Given the description of an element on the screen output the (x, y) to click on. 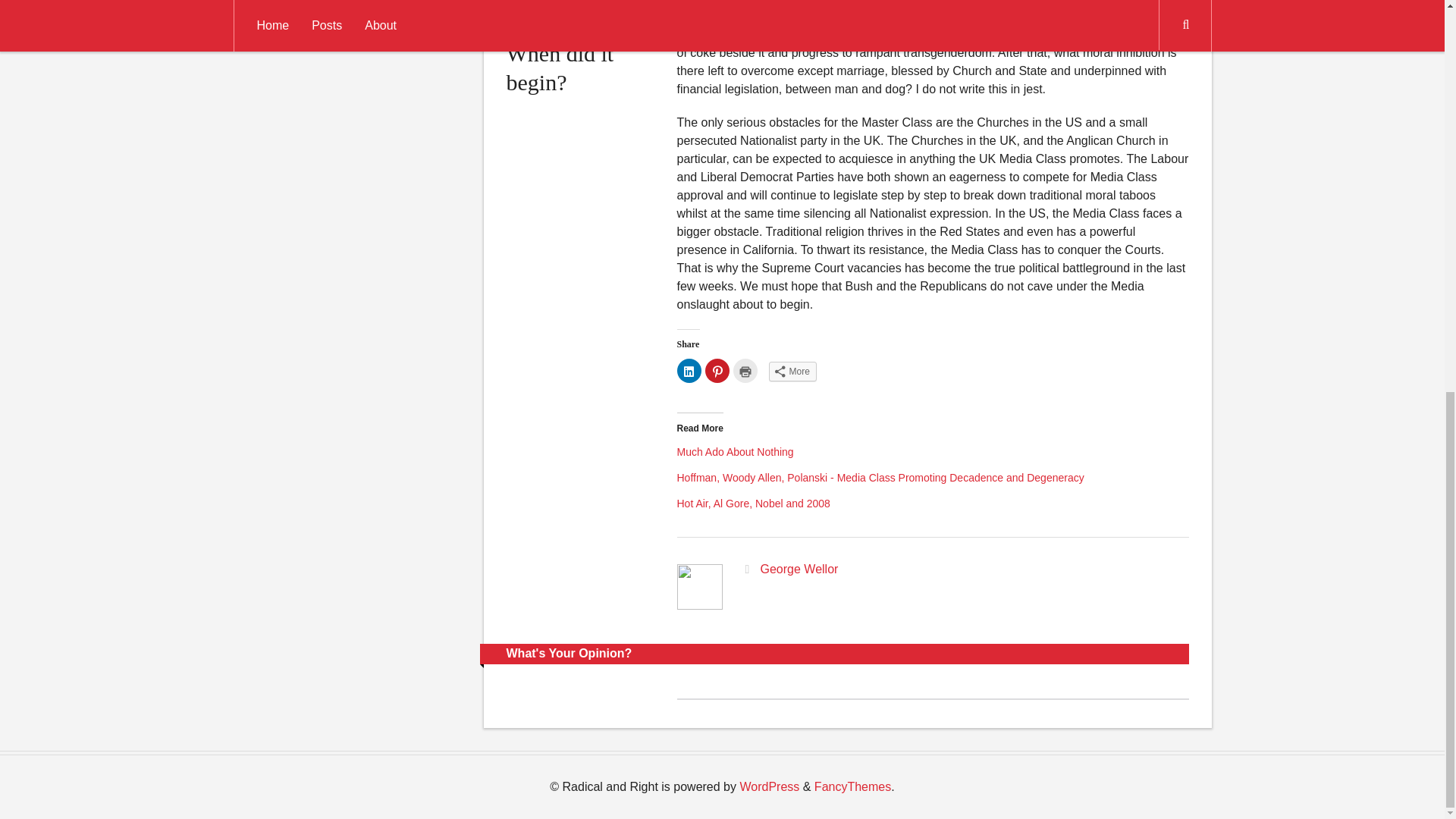
Hot Air, Al Gore, Nobel and 2008 (753, 503)
George Wellor (799, 568)
Hot Air, Al Gore, Nobel and 2008 (753, 503)
Posts by George Wellor (799, 568)
Click to share on LinkedIn (688, 370)
WordPress (769, 786)
FancyThemes (852, 786)
Click to share on Pinterest (716, 370)
WordPress (769, 786)
Click to print (744, 370)
Much Ado About Nothing (735, 451)
Much Ado About Nothing (735, 451)
